Given the description of an element on the screen output the (x, y) to click on. 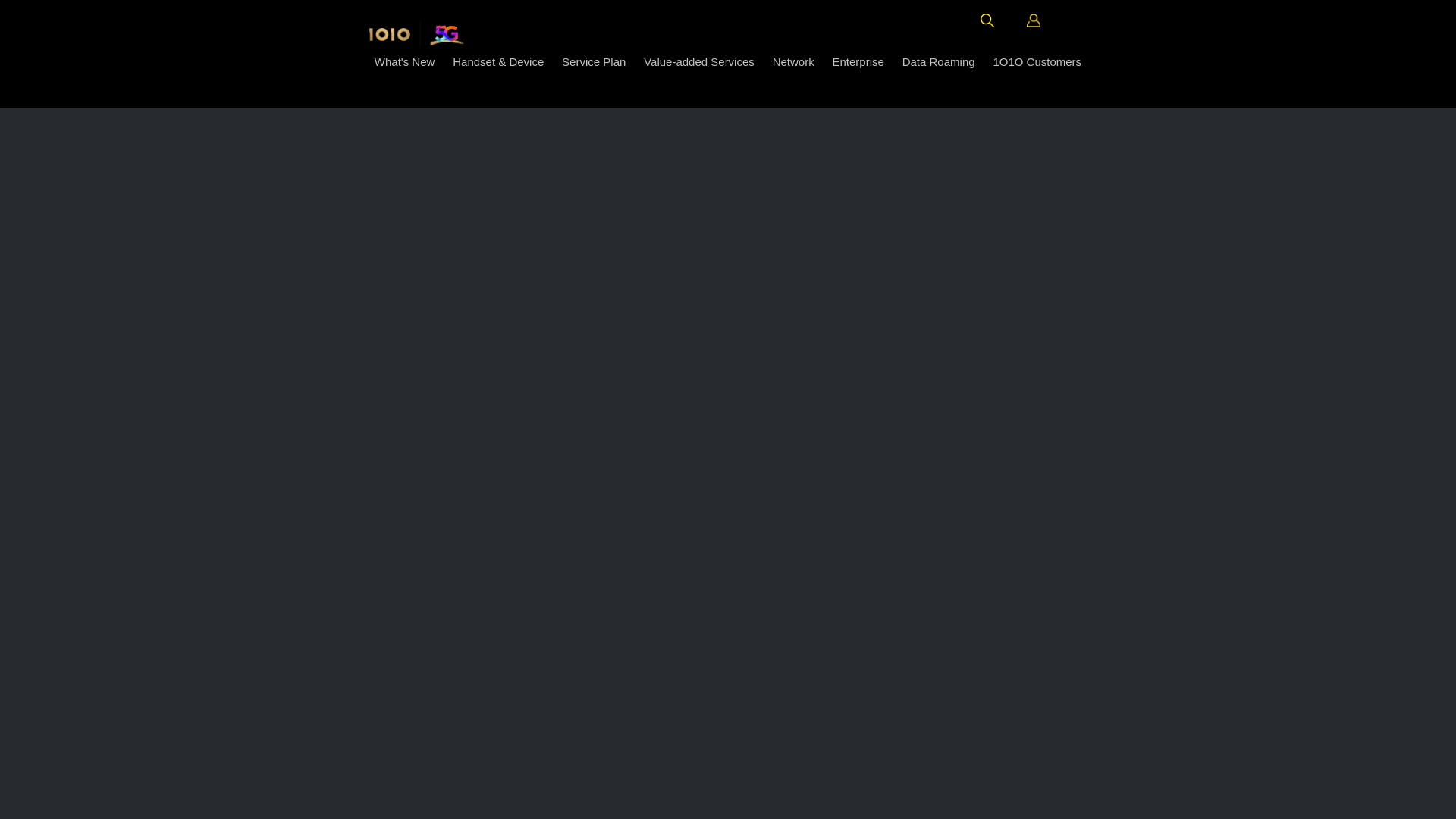
What's New (404, 62)
Service Plan (594, 62)
Home (415, 32)
